Given the description of an element on the screen output the (x, y) to click on. 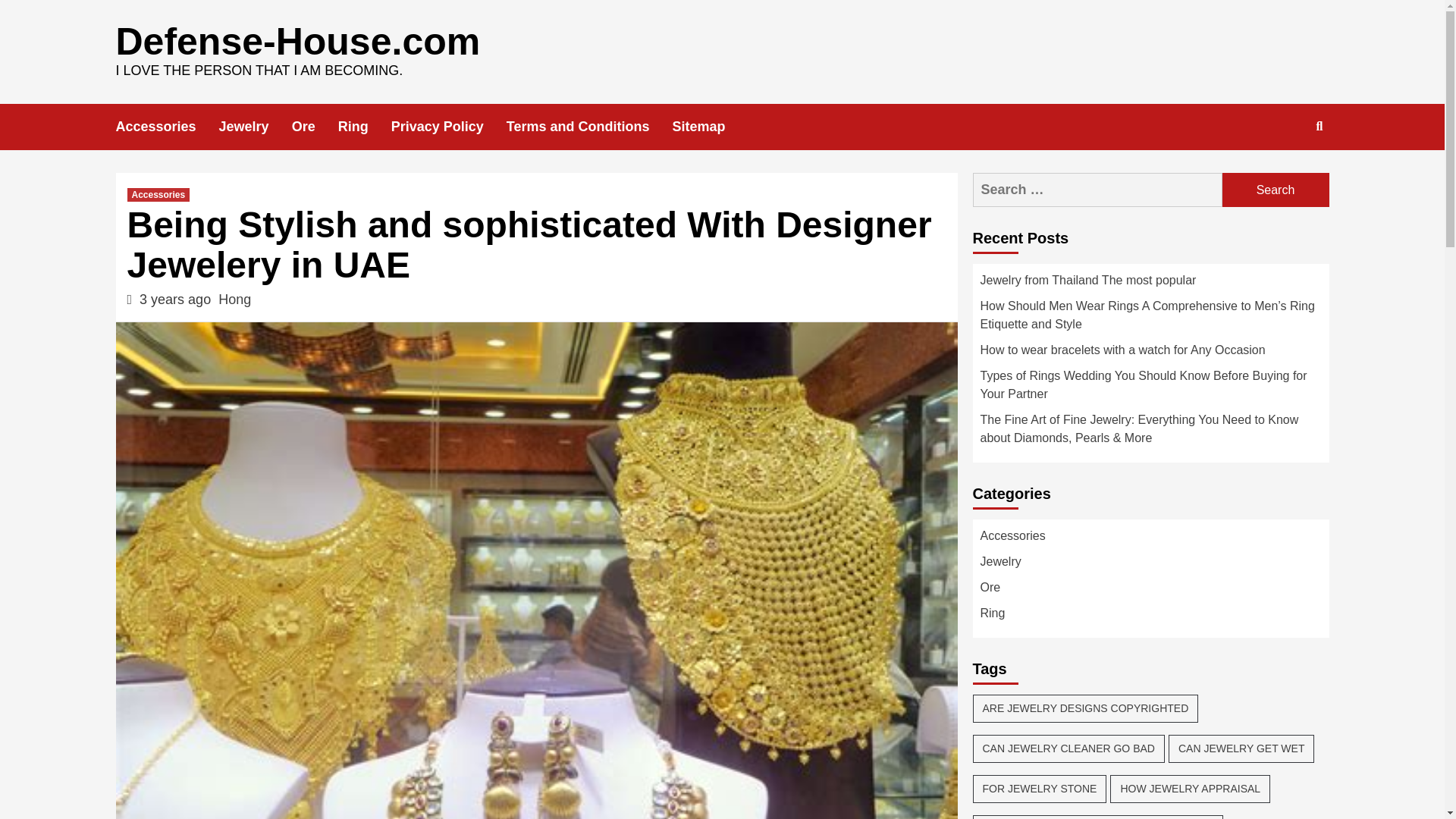
Accessories (159, 194)
Search (1276, 189)
Defense-House.com (297, 41)
How to wear bracelets with a watch for Any Occasion (1149, 353)
Privacy Policy (448, 126)
Hong (234, 299)
Jewelry from Thailand The most popular  (1149, 284)
Sitemap (709, 126)
Search (1283, 175)
Accessories (166, 126)
Ore (314, 126)
Ring (364, 126)
Terms and Conditions (589, 126)
Jewelry (255, 126)
